Given the description of an element on the screen output the (x, y) to click on. 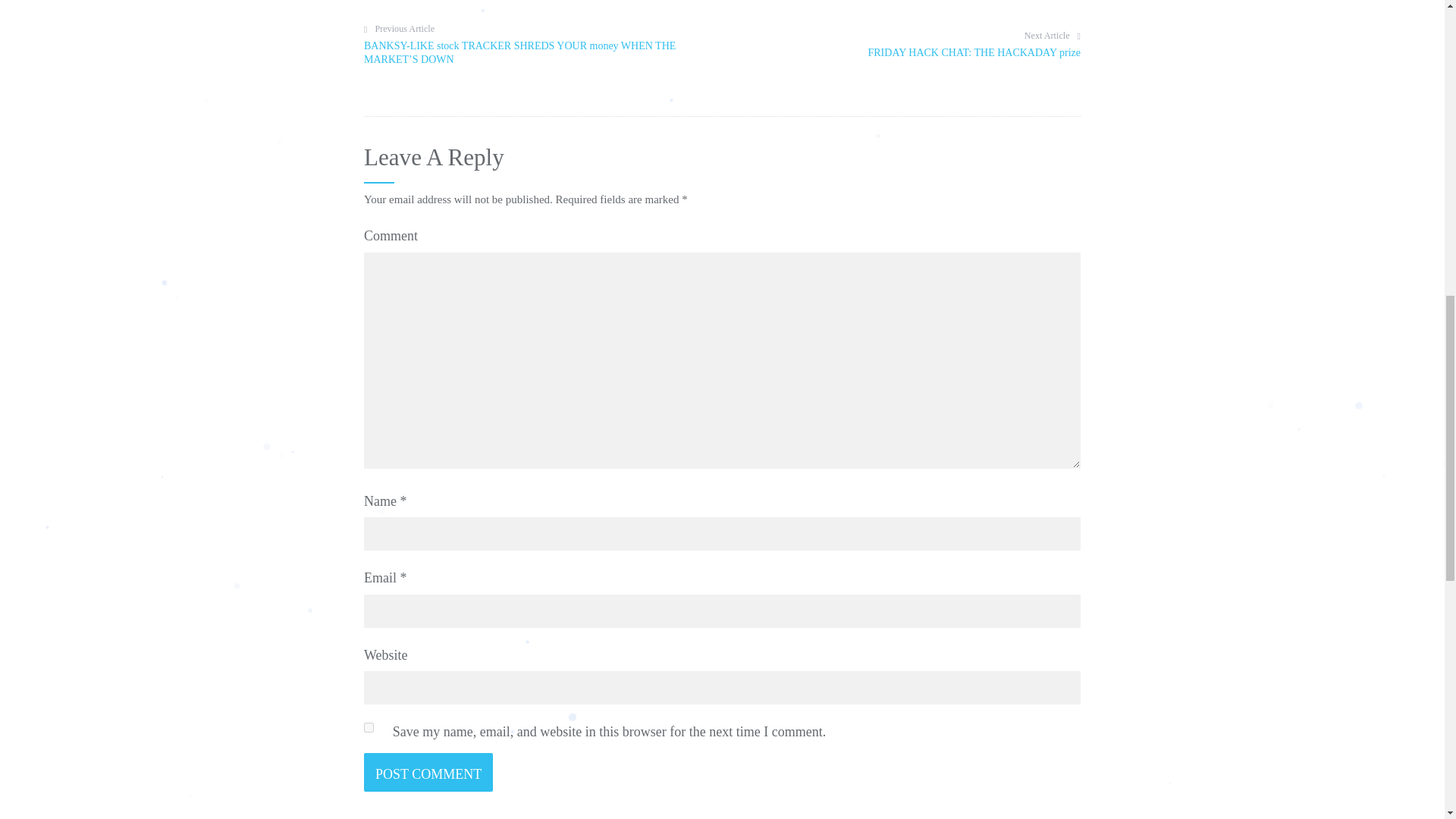
Post Comment (428, 771)
yes (369, 727)
Post Comment (901, 44)
